Given the description of an element on the screen output the (x, y) to click on. 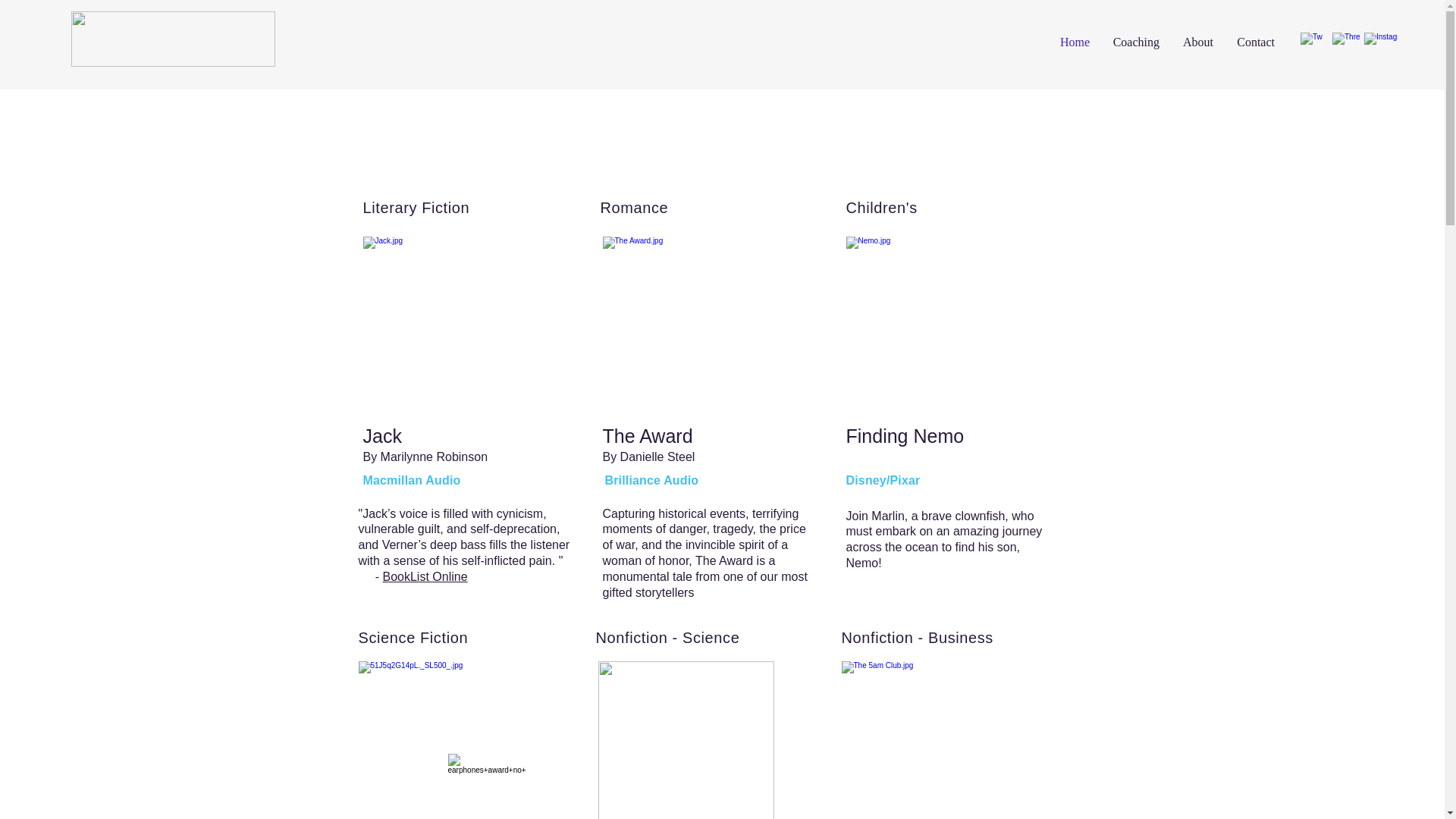
Home (1074, 42)
Contact (1254, 42)
BookList Online (424, 576)
About (1197, 42)
adam-vernerNOPAGE.png (173, 38)
Coaching (1135, 42)
